Given the description of an element on the screen output the (x, y) to click on. 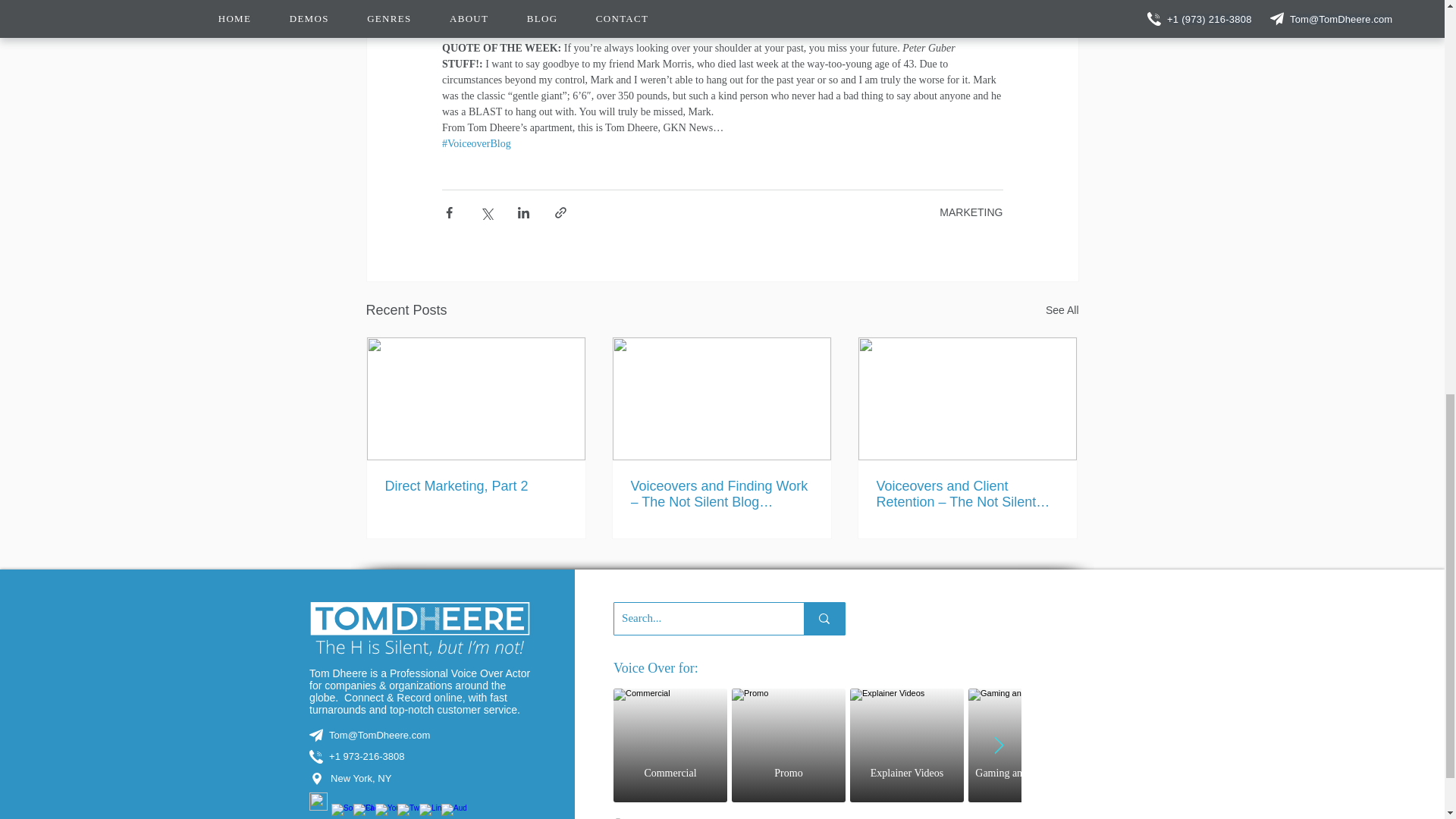
New York, NY (419, 777)
See All (817, 744)
Direct Marketing, Part 2 (1061, 309)
MARKETING (817, 744)
